Given the description of an element on the screen output the (x, y) to click on. 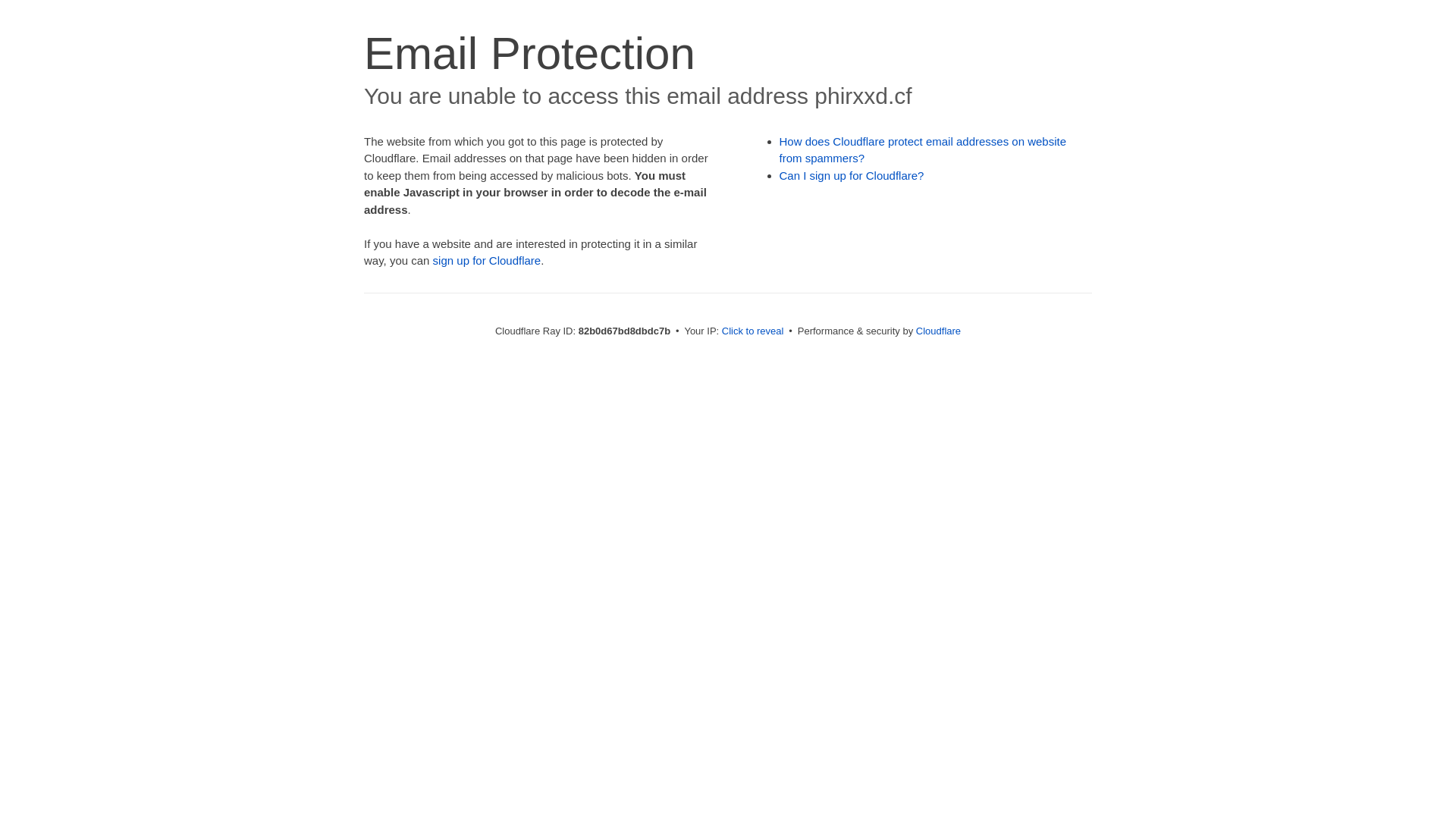
Can I sign up for Cloudflare? Element type: text (851, 175)
sign up for Cloudflare Element type: text (487, 260)
Click to reveal Element type: text (752, 330)
Cloudflare Element type: text (938, 330)
